Given the description of an element on the screen output the (x, y) to click on. 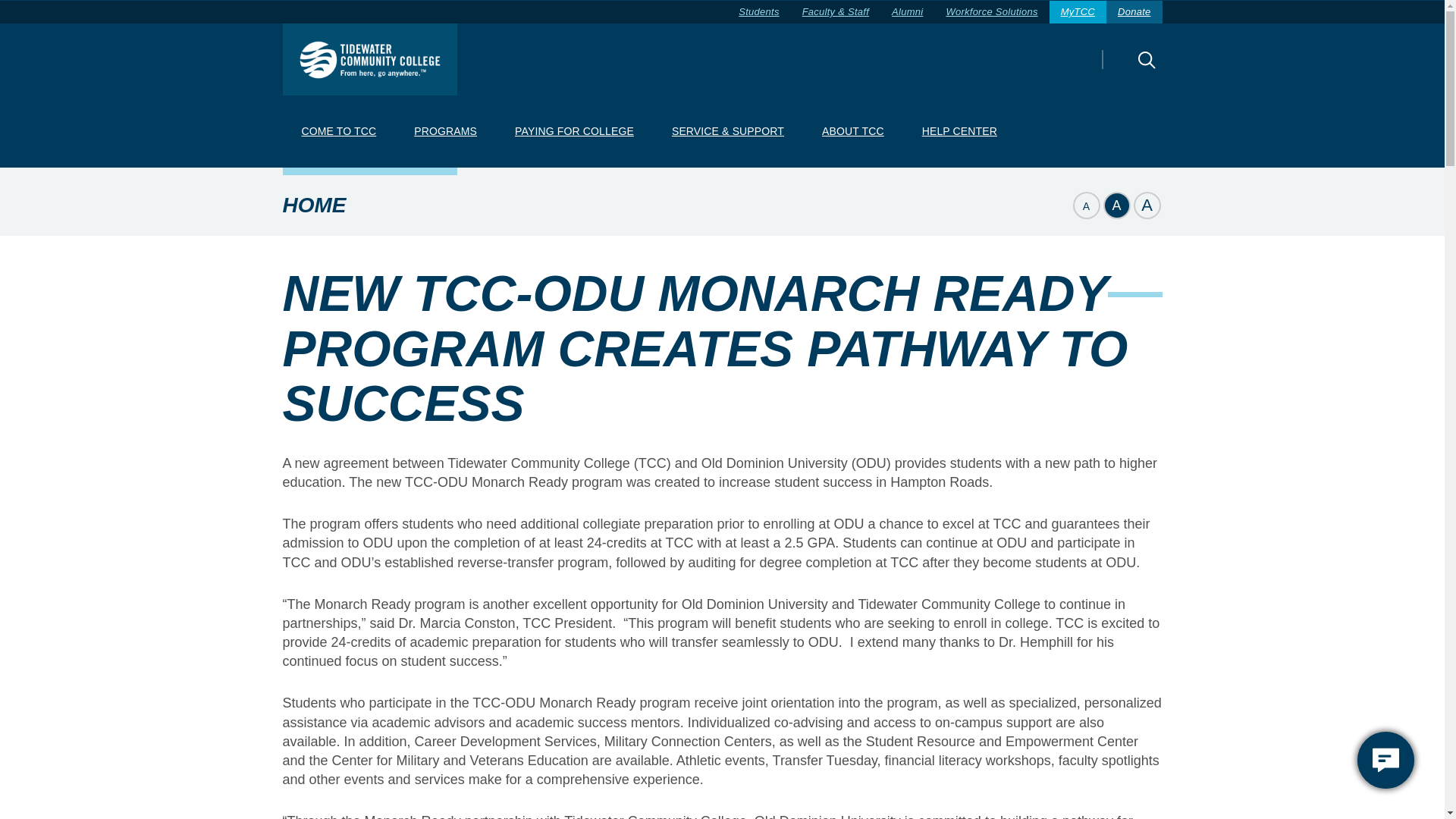
MyTCC (1077, 11)
Workforce Solutions (991, 11)
Search (1119, 70)
Set page copy to normal size (1115, 205)
Alumni (907, 11)
COME TO TCC (338, 131)
PROGRAMS (445, 131)
Students (758, 11)
Donate (1133, 11)
PAYING FOR COLLEGE (574, 131)
